Given the description of an element on the screen output the (x, y) to click on. 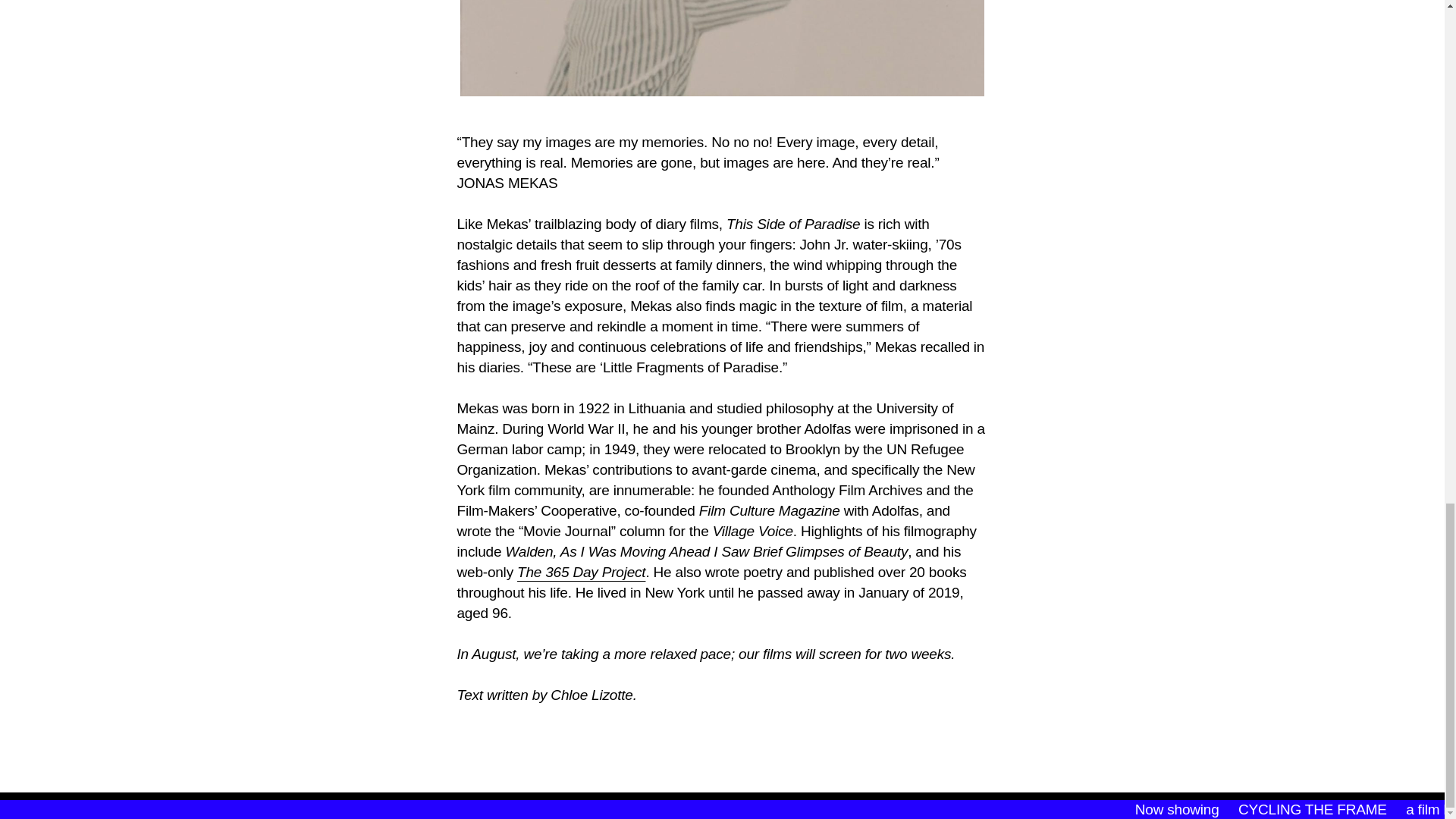
FACEBOOK (805, 805)
TWITTER (724, 805)
The 365 Day Project (580, 571)
INSTAGRAM (640, 805)
